Given the description of an element on the screen output the (x, y) to click on. 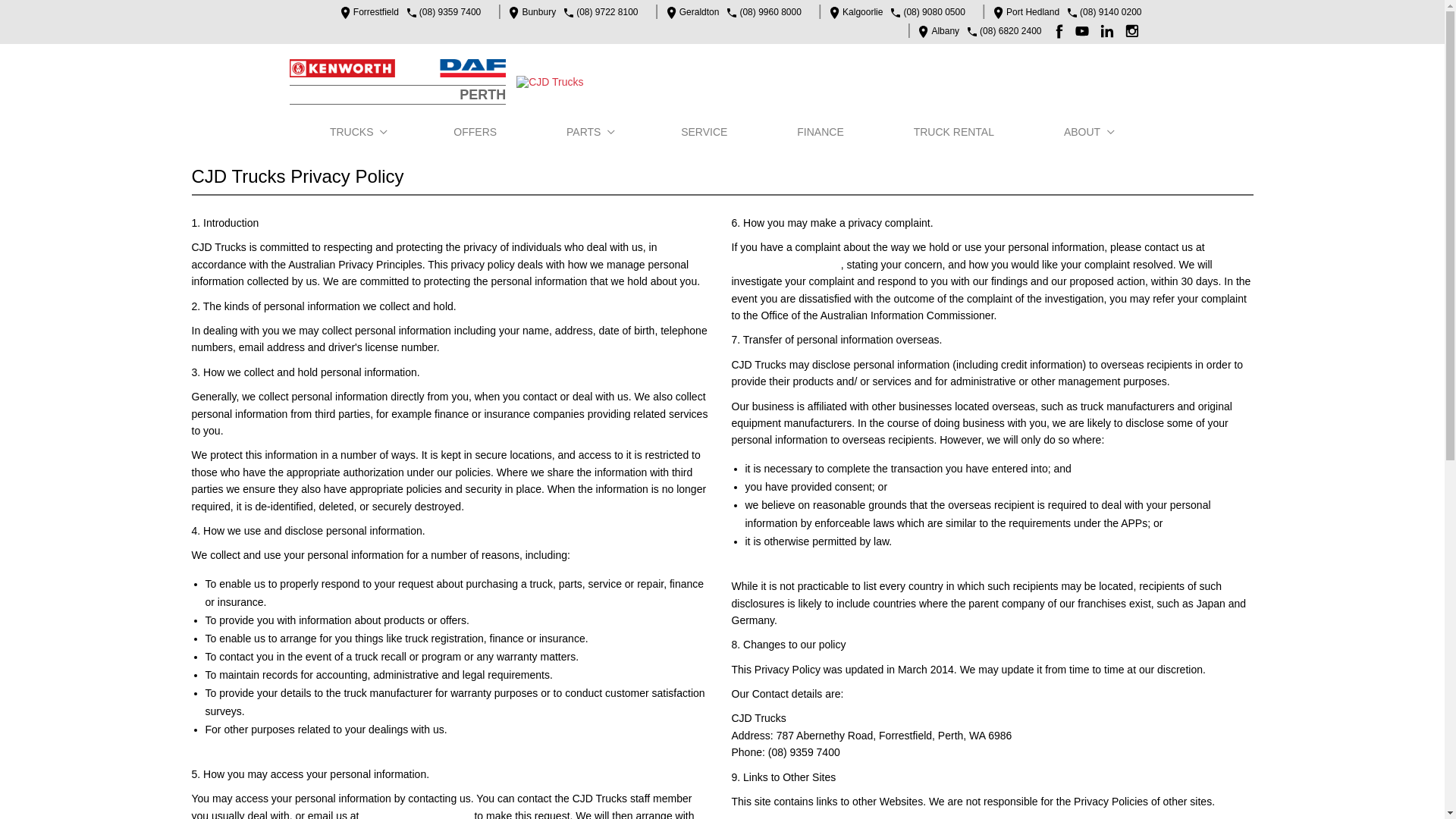
PERTH Element type: text (397, 81)
(08) 9140 0200 Element type: text (1110, 12)
Port Hedland Element type: text (1022, 12)
Albany Element type: text (934, 30)
TRUCK RENTAL Element type: text (955, 131)
Follow our channel on YouTube Element type: hover (1084, 30)
(08) 9080 0500 Element type: text (933, 12)
Follow us on LinkedIn Element type: hover (1110, 30)
TRUCKS Element type: text (358, 131)
Bunbury Element type: text (528, 12)
PARTS Element type: text (590, 131)
Kalgoorlie Element type: text (852, 12)
OFFERS Element type: text (476, 131)
(08) 9960 8000 Element type: text (769, 12)
ABOUT Element type: text (1088, 131)
Follow us on Facebook Element type: hover (1060, 30)
FINANCE Element type: text (822, 131)
Geraldton Element type: text (688, 12)
(08) 9722 8100 Element type: text (606, 12)
(08) 9359 7400 Element type: text (449, 12)
(08) 6820 2400 Element type: text (1010, 30)
SERVICE Element type: text (706, 131)
Follow us on Instagram Element type: hover (1134, 30)
Forrestfield Element type: text (365, 12)
